Given the description of an element on the screen output the (x, y) to click on. 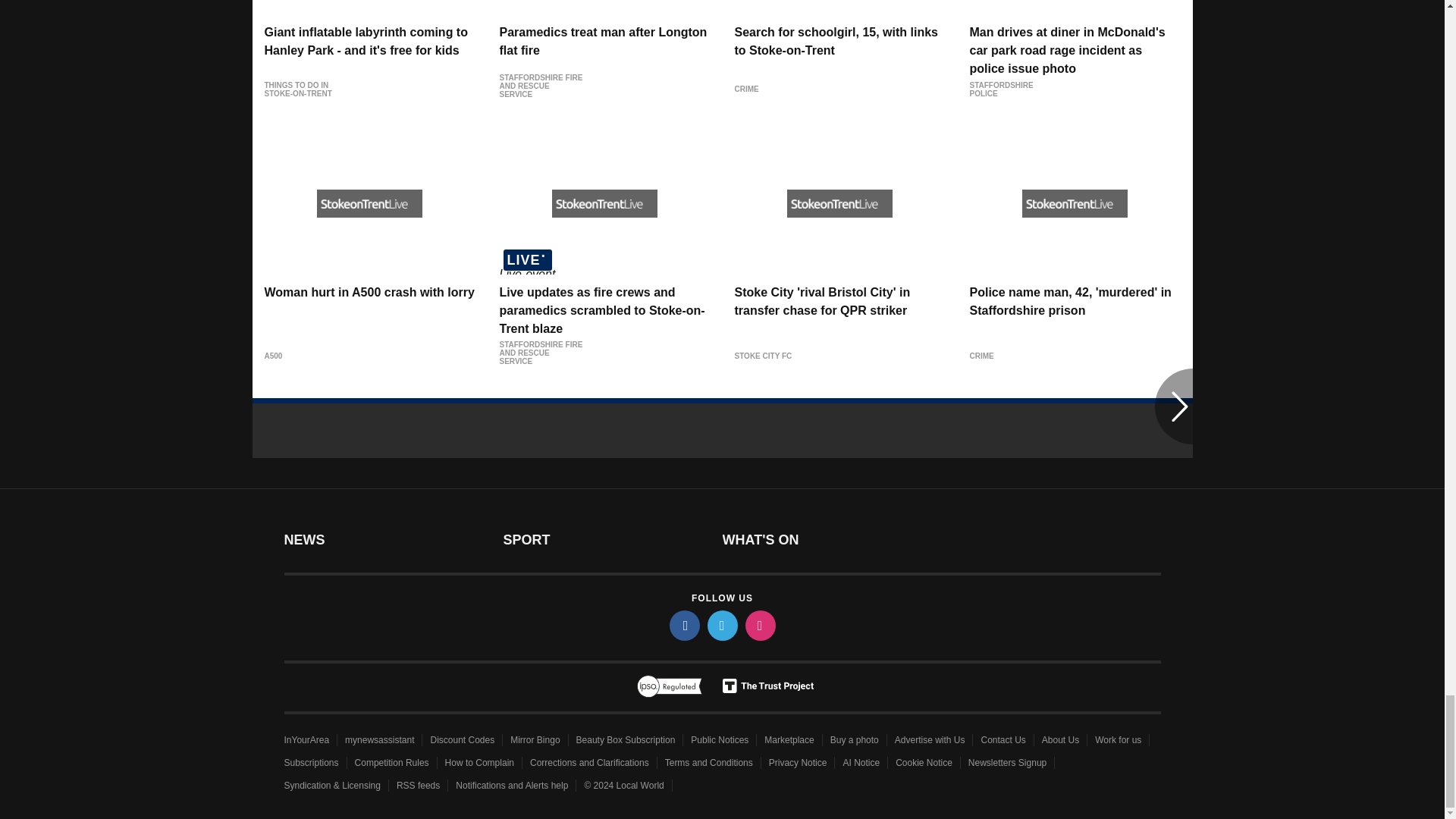
instagram (759, 625)
twitter (721, 625)
facebook (683, 625)
